Given the description of an element on the screen output the (x, y) to click on. 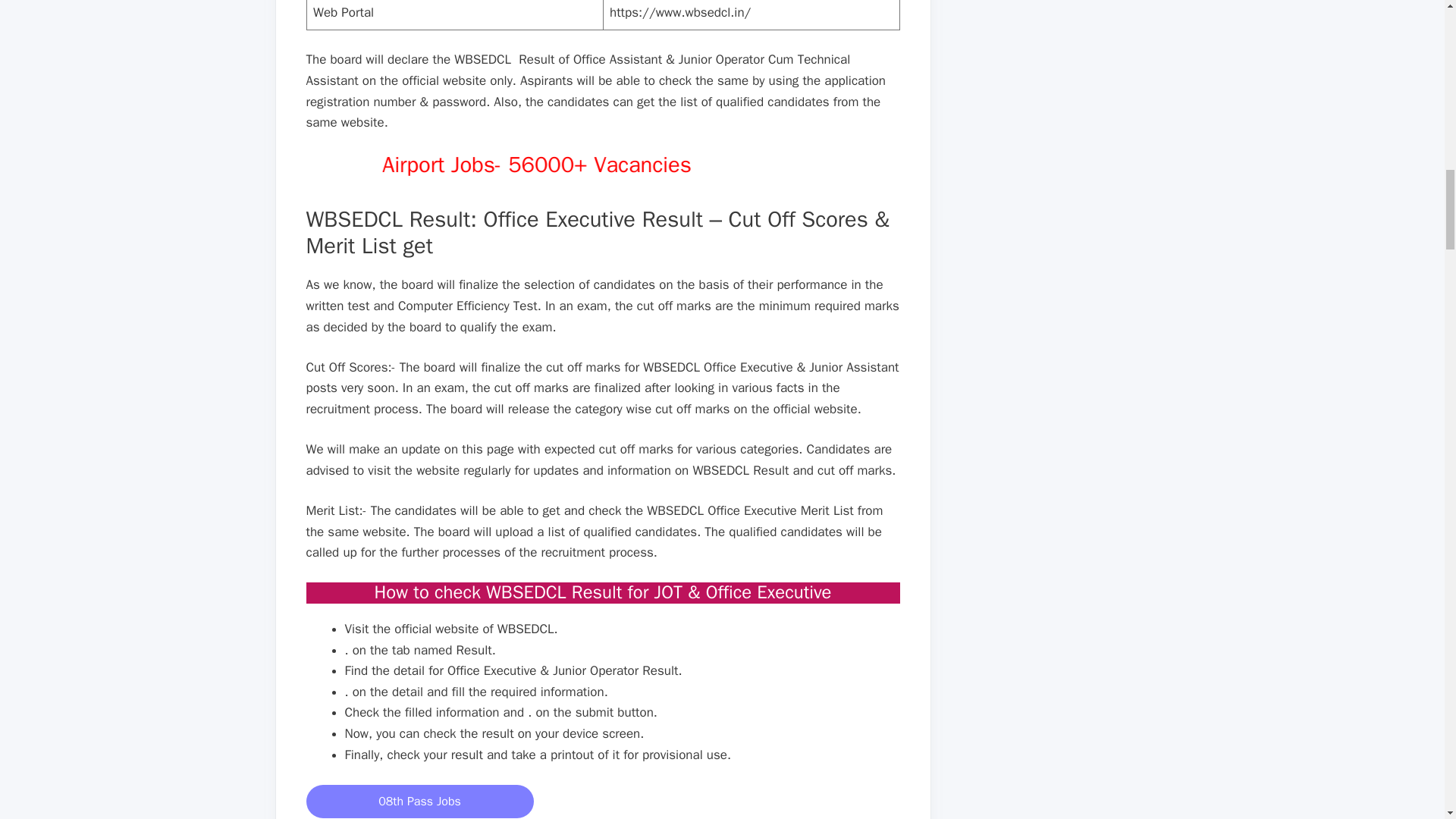
08th Pass Jobs (419, 801)
08th Pass Jobs (419, 801)
